Given the description of an element on the screen output the (x, y) to click on. 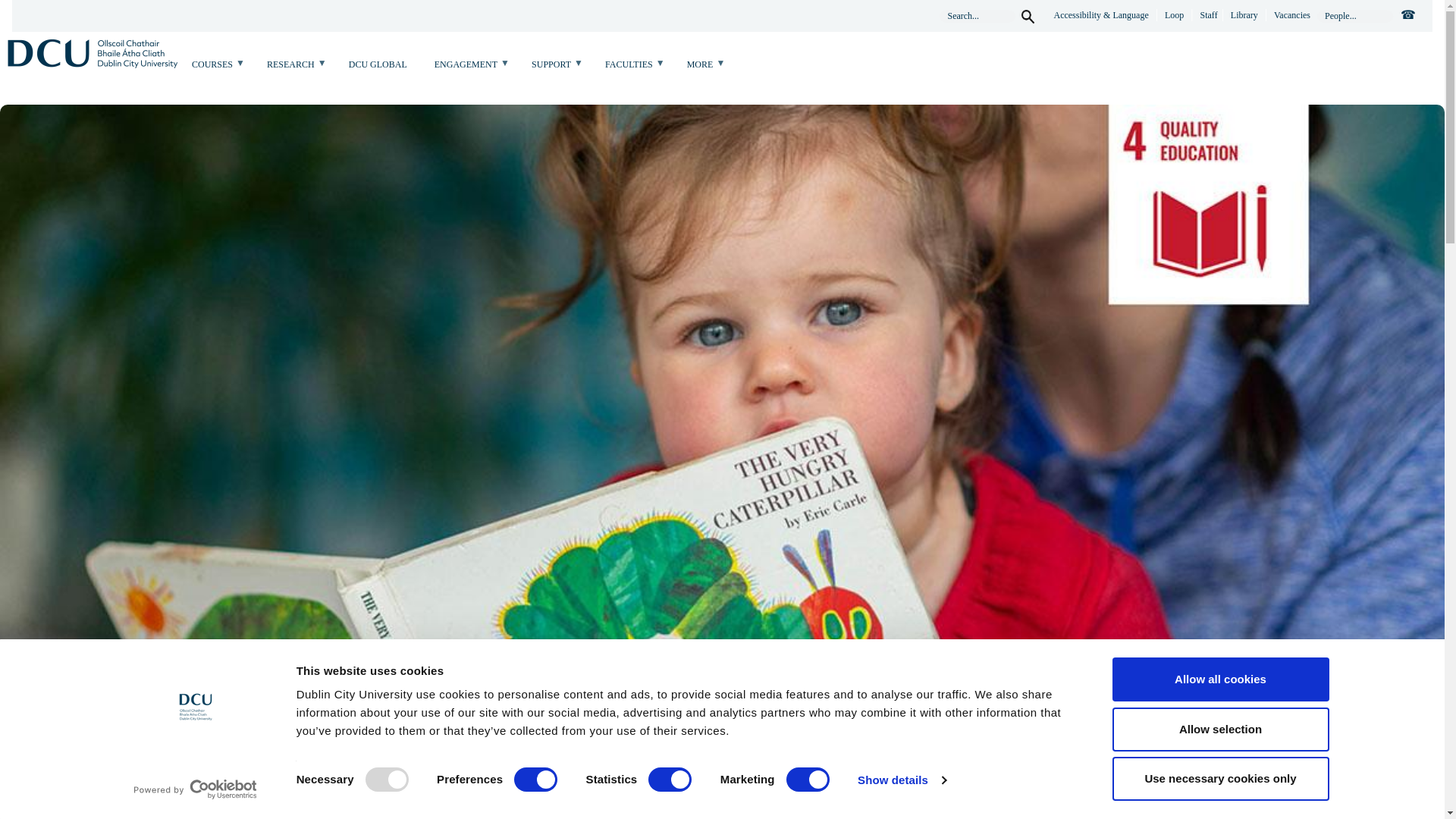
People... (1355, 15)
Search... (976, 15)
Show details (900, 780)
People... (1355, 15)
